Given the description of an element on the screen output the (x, y) to click on. 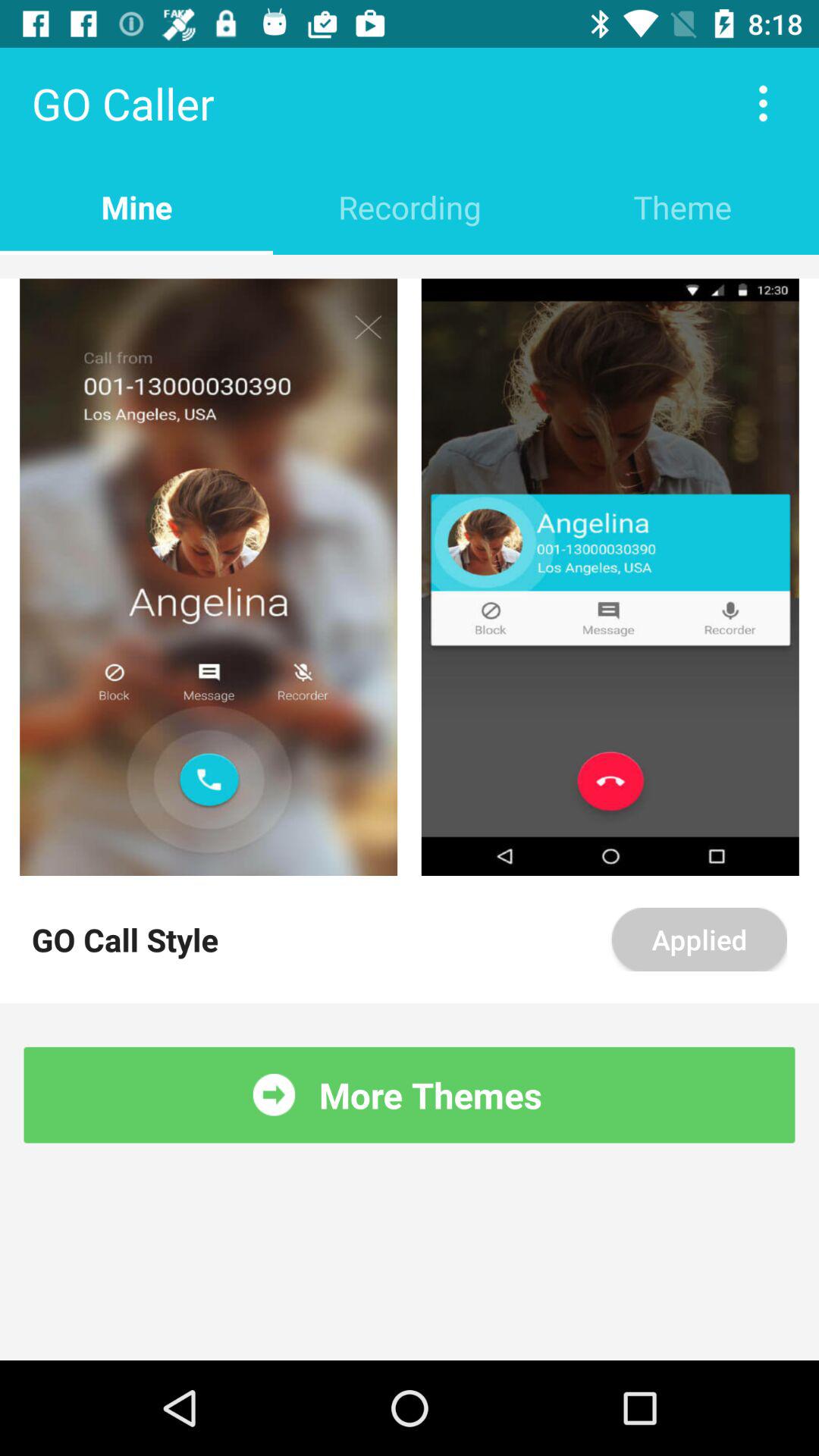
open item below go caller item (136, 206)
